Given the description of an element on the screen output the (x, y) to click on. 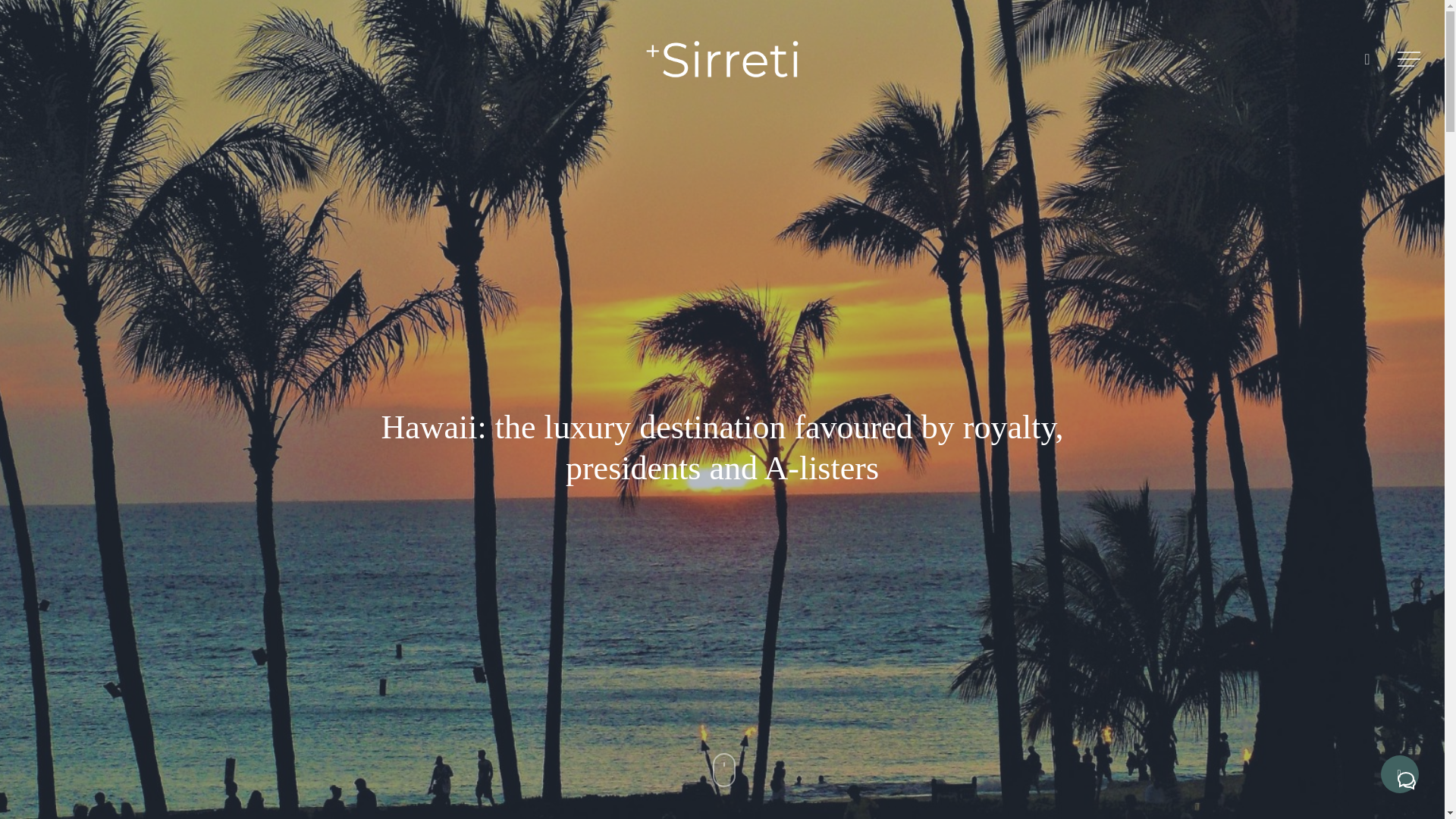
Menu (1410, 59)
account (1366, 59)
